Given the description of an element on the screen output the (x, y) to click on. 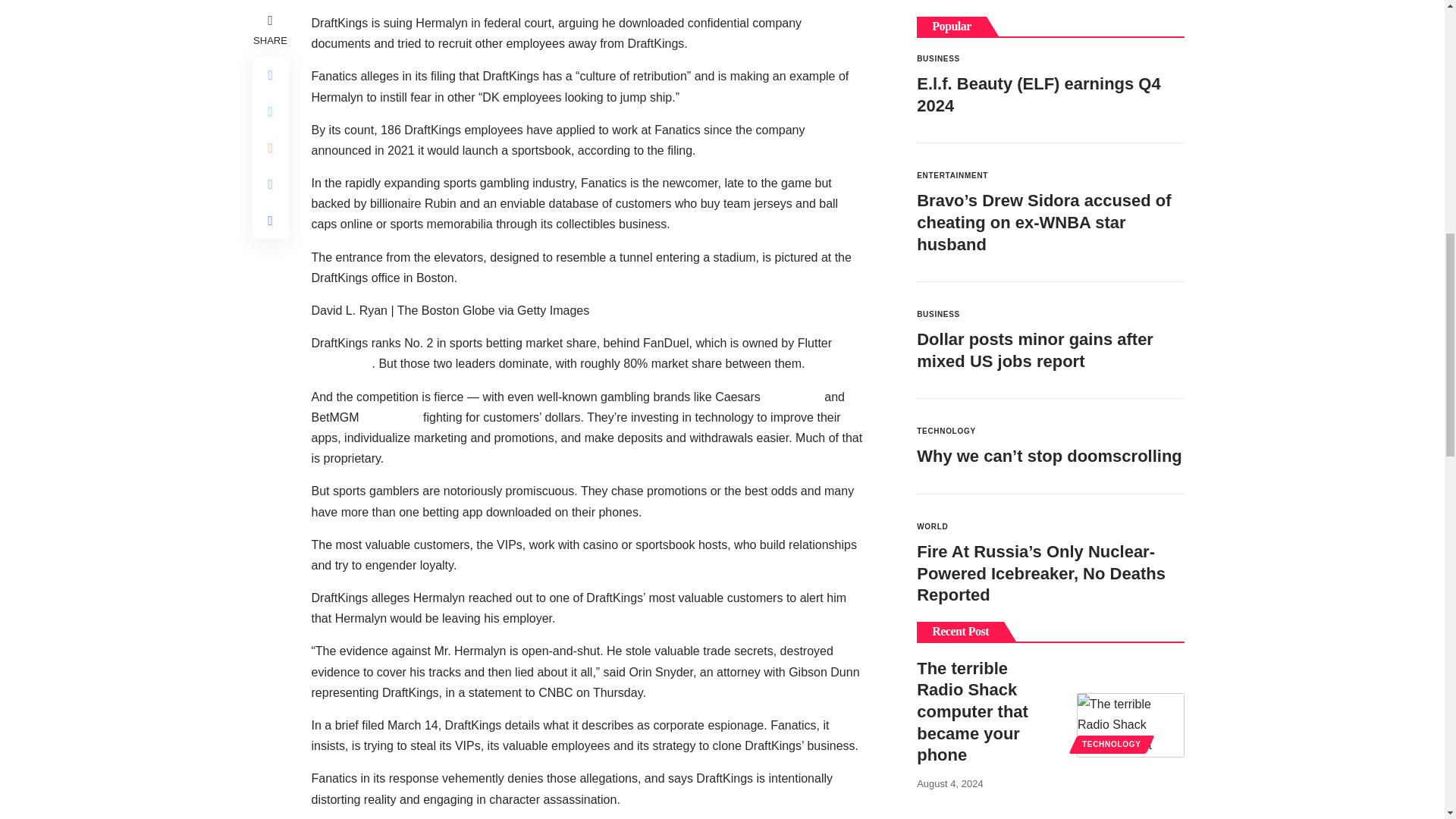
Crimson With Shame (1131, 598)
The terrible Radio Shack computer that became your phone (1131, 470)
Make your house a smart home for less than dinner (1131, 704)
